Given the description of an element on the screen output the (x, y) to click on. 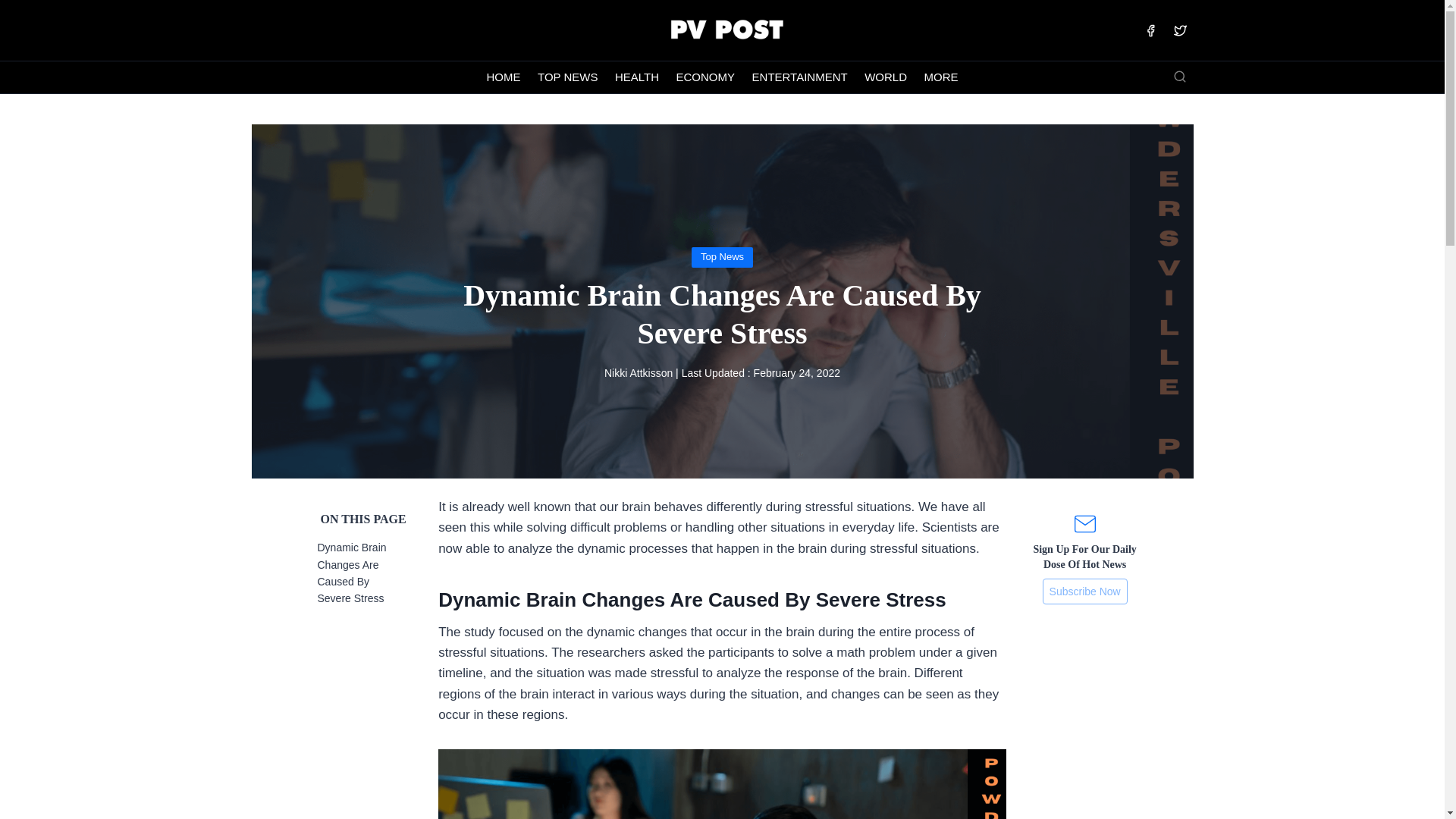
MORE (940, 77)
ECONOMY (704, 77)
Subscribe Now (1084, 591)
HEALTH (637, 77)
Dynamic Brain Changes Are Caused By Severe Stress (351, 572)
ENTERTAINMENT (799, 77)
WORLD (885, 77)
Top News (722, 256)
TOP NEWS (568, 77)
HOME (503, 77)
